Given the description of an element on the screen output the (x, y) to click on. 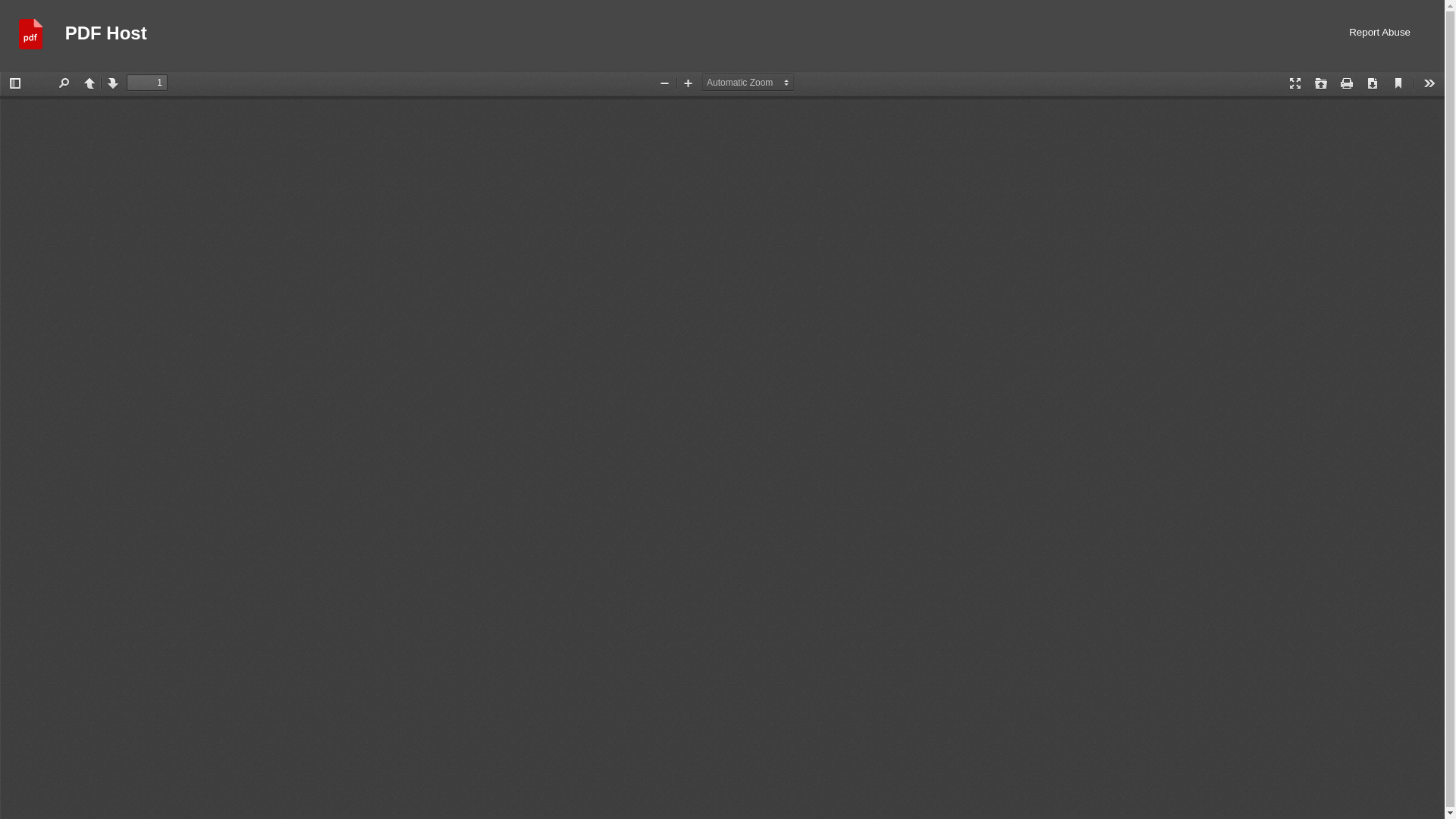
Toggle Sidebar (14, 82)
1 (146, 82)
Find in Document (62, 82)
PDF Host (106, 35)
Report Abuse (1379, 35)
